Given the description of an element on the screen output the (x, y) to click on. 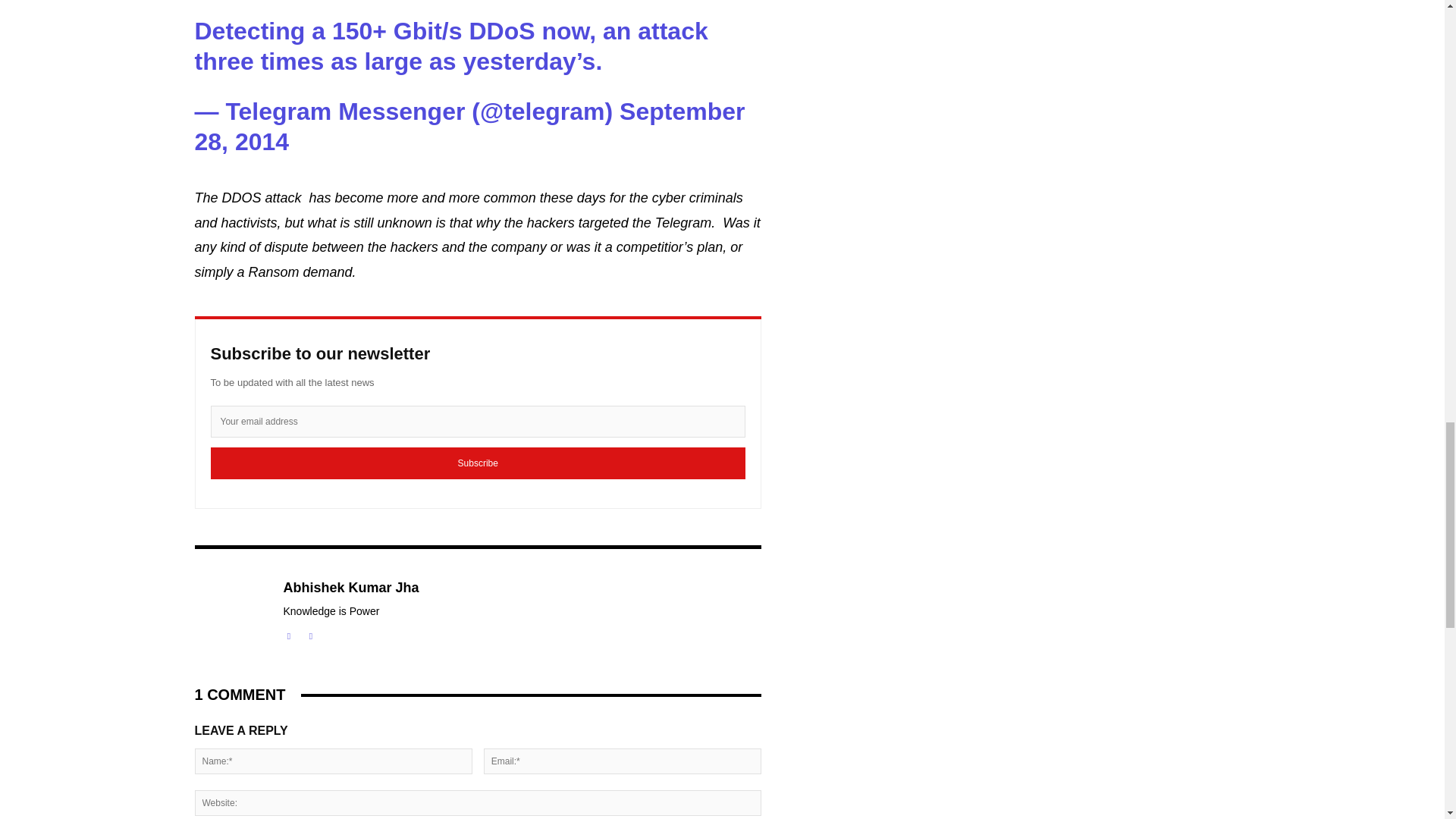
Subscribe (478, 463)
Twitter (309, 633)
Abhishek Kumar Jha (351, 588)
September 28, 2014 (468, 126)
Linkedin (289, 633)
Abhishek Kumar Jha (229, 610)
